Given the description of an element on the screen output the (x, y) to click on. 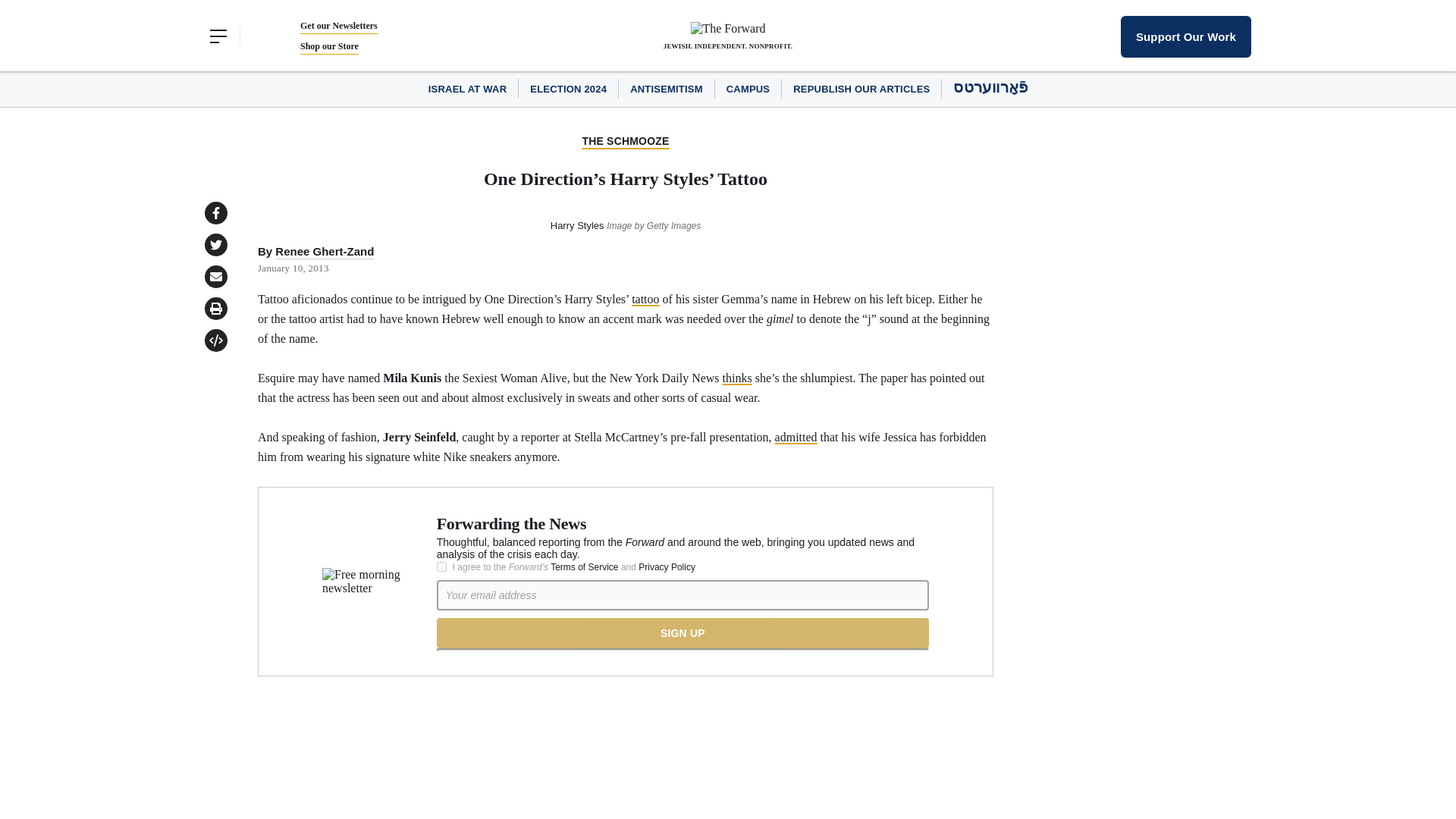
Shop our Store (328, 46)
Sign Up (682, 633)
ELECTION 2024 (568, 89)
Support Our Work (1185, 35)
Click to open publish popup (216, 340)
ANTISEMITISM (666, 89)
Yes (441, 566)
ISRAEL AT WAR (467, 89)
Get our Newsletters (338, 26)
